Given the description of an element on the screen output the (x, y) to click on. 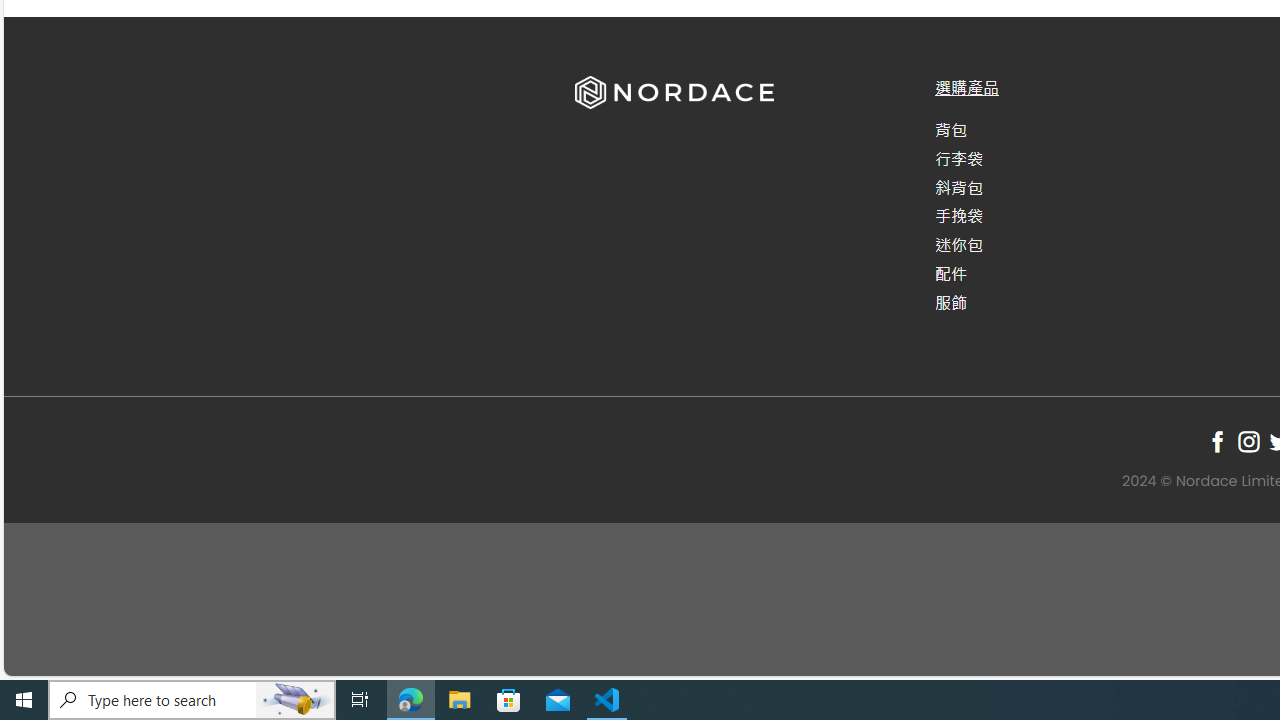
Follow on Facebook (1217, 441)
Follow on Instagram (1248, 441)
